Given the description of an element on the screen output the (x, y) to click on. 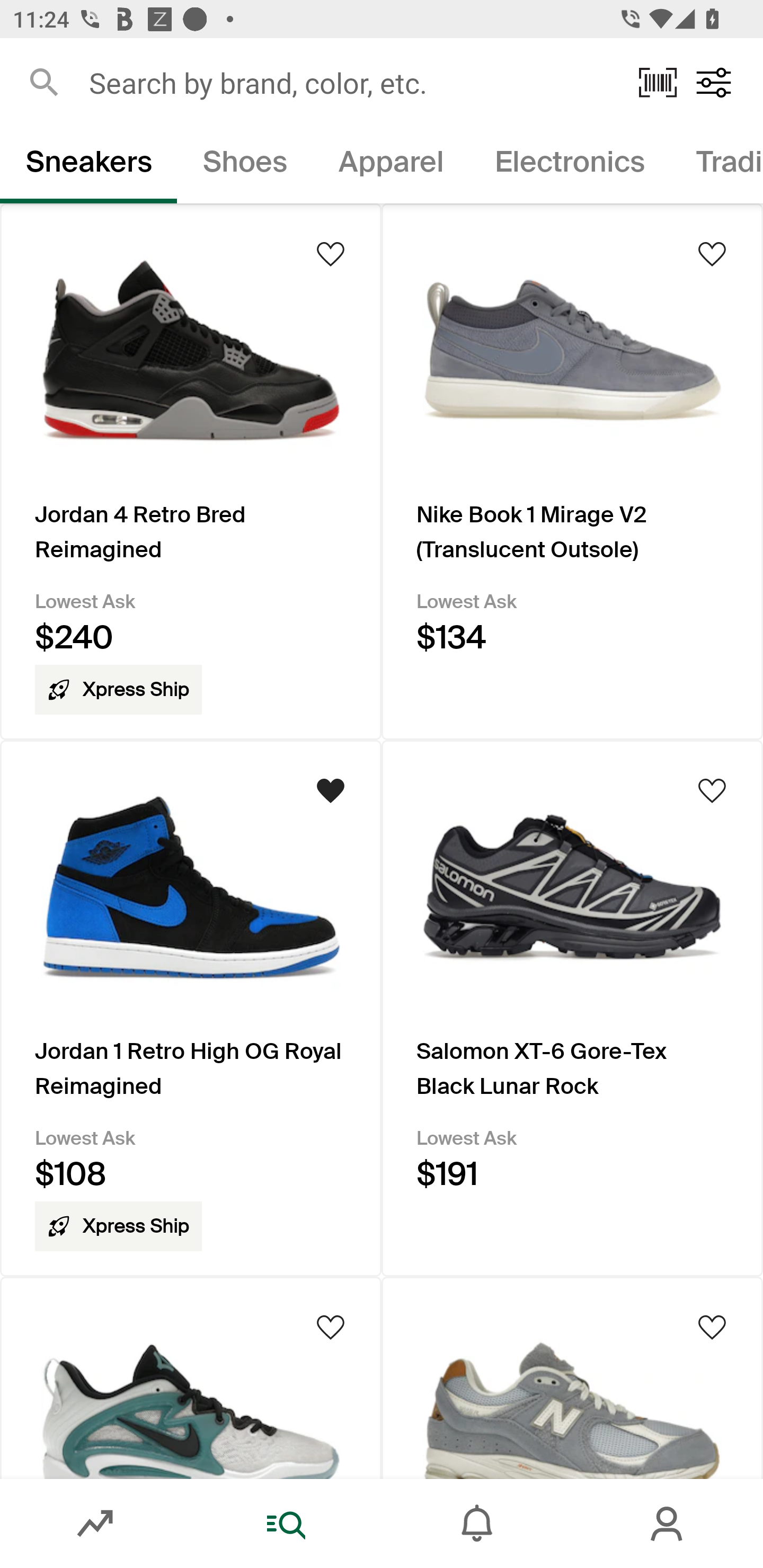
Search by brand, color, etc. (351, 82)
Shoes (244, 165)
Apparel (390, 165)
Electronics (569, 165)
Product Image (190, 1377)
Product Image (572, 1377)
Market (95, 1523)
Inbox (476, 1523)
Account (667, 1523)
